Given the description of an element on the screen output the (x, y) to click on. 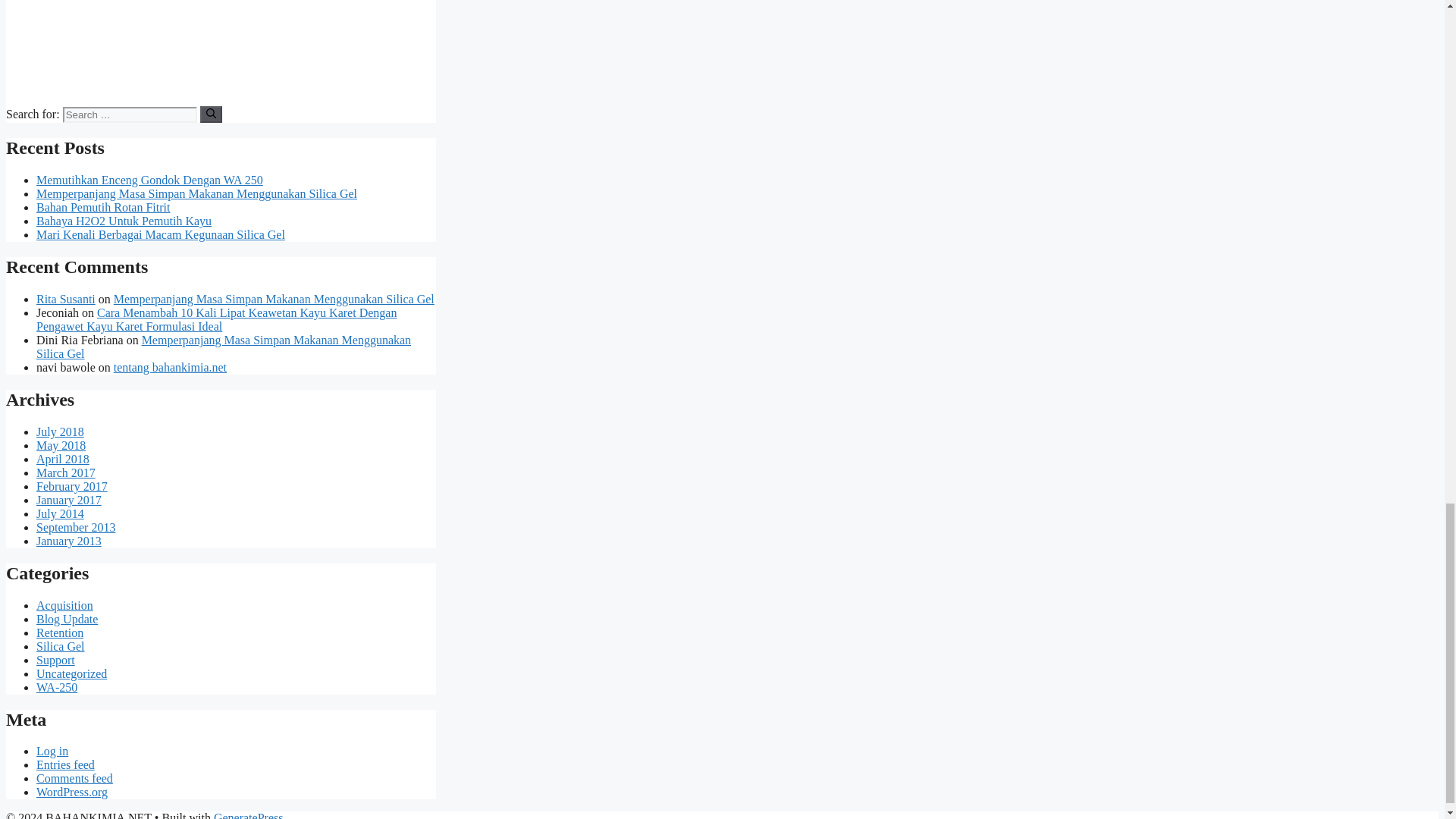
Memperpanjang Masa Simpan Makanan Menggunakan Silica Gel (223, 346)
tentang bahankimia.net (170, 367)
Memperpanjang Masa Simpan Makanan Menggunakan Silica Gel (273, 298)
Mari Kenali Berbagai Macam Kegunaan Silica Gel (160, 234)
March 2017 (66, 472)
Bahaya H2O2 Untuk Pemutih Kayu (123, 220)
April 2018 (62, 459)
May 2018 (60, 445)
September 2013 (75, 526)
Rita Susanti (66, 298)
Search for: (129, 114)
Memperpanjang Masa Simpan Makanan Menggunakan Silica Gel (196, 193)
February 2017 (71, 486)
July 2014 (60, 513)
January 2013 (68, 540)
